Given the description of an element on the screen output the (x, y) to click on. 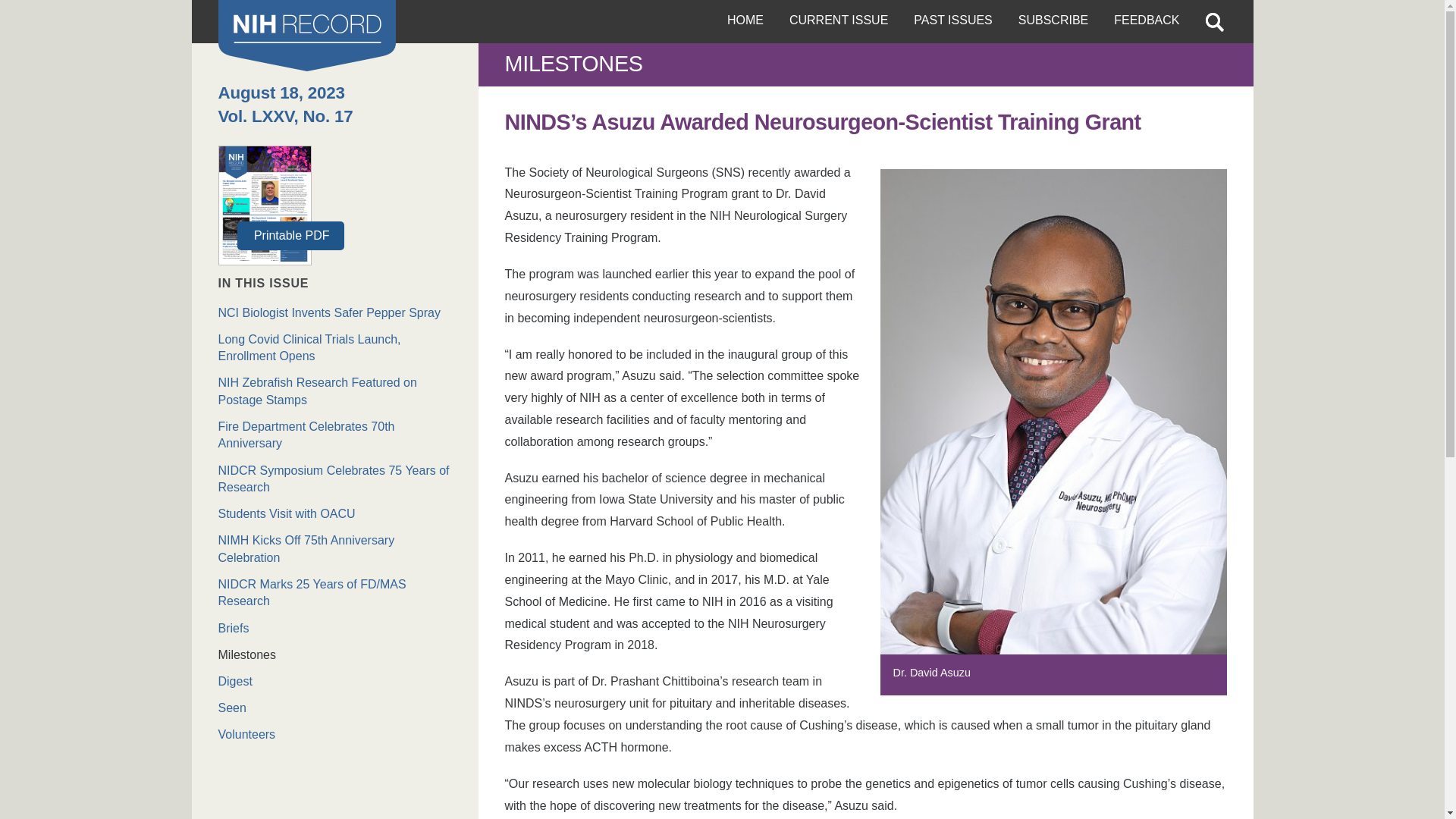
Long Covid Clinical Trials Launch, Enrollment Opens (334, 348)
NIMH Kicks Off 75th Anniversary Celebration (334, 549)
NIDCR Symposium Celebrates 75 Years of Research (334, 479)
CURRENT ISSUE (838, 21)
Volunteers (334, 734)
August 18, 2023 (281, 92)
Briefs (334, 628)
Digest (334, 681)
NIH Zebrafish Research Featured on Postage Stamps (334, 391)
